Given the description of an element on the screen output the (x, y) to click on. 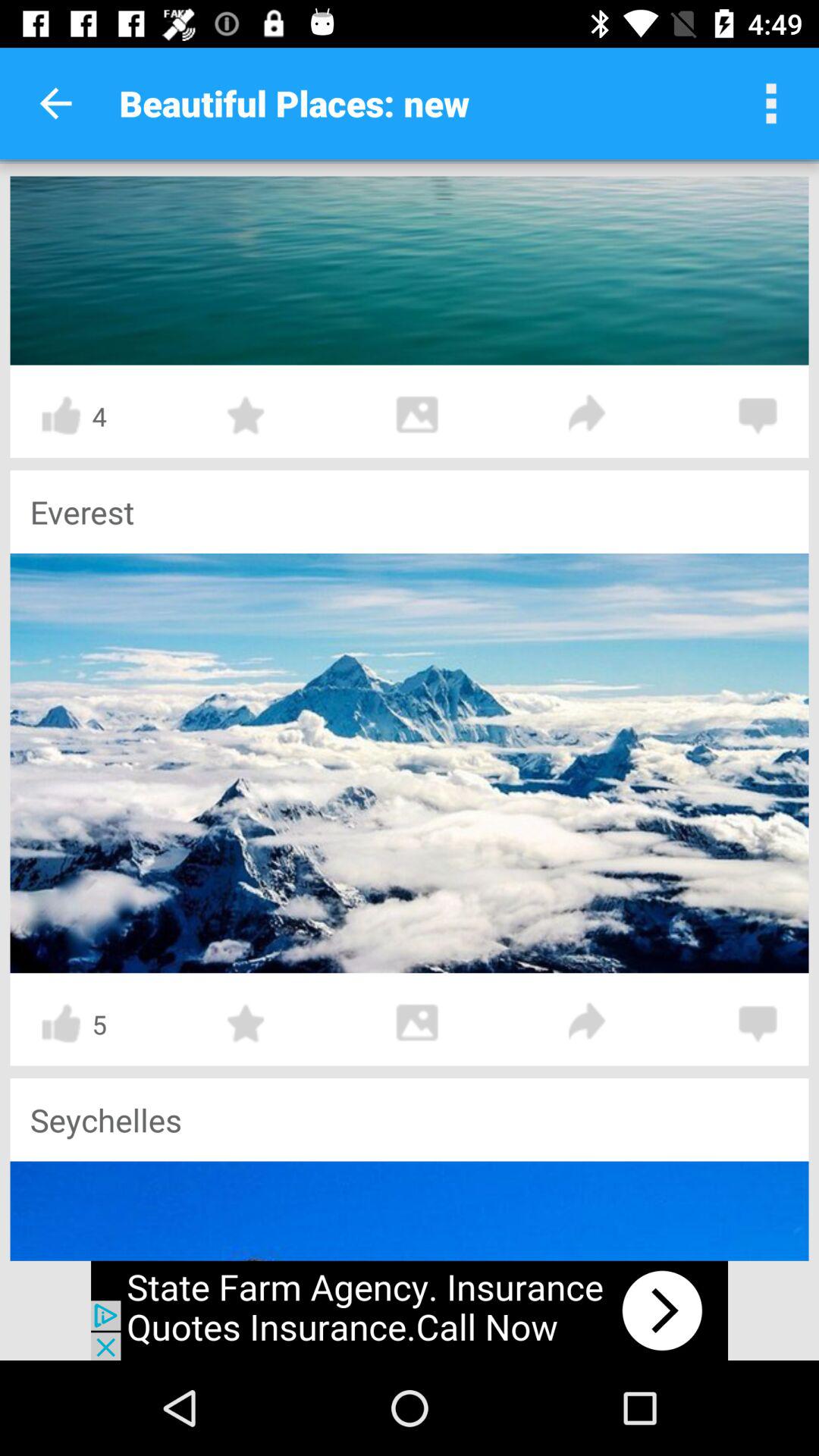
leave a comment (757, 1023)
